Given the description of an element on the screen output the (x, y) to click on. 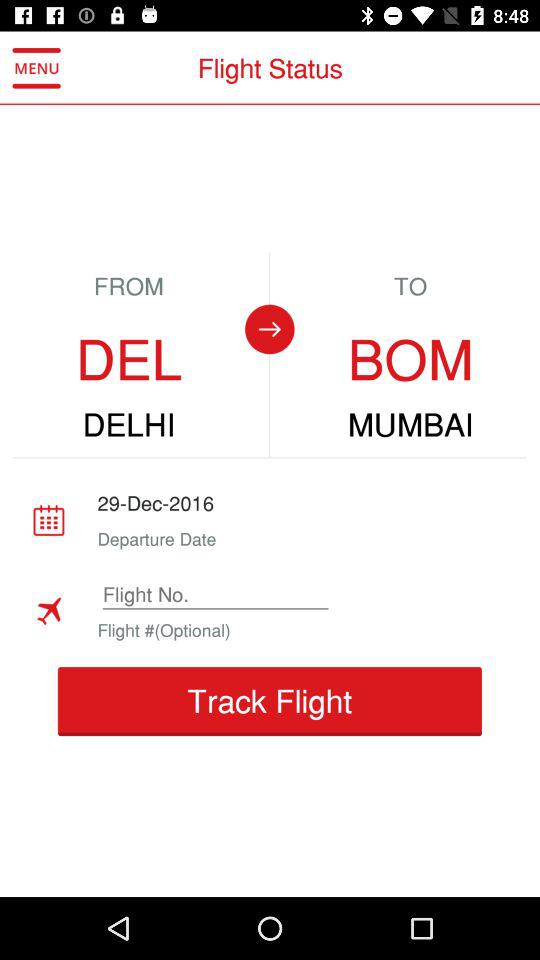
turn off the icon to the left of the flight status item (36, 68)
